Given the description of an element on the screen output the (x, y) to click on. 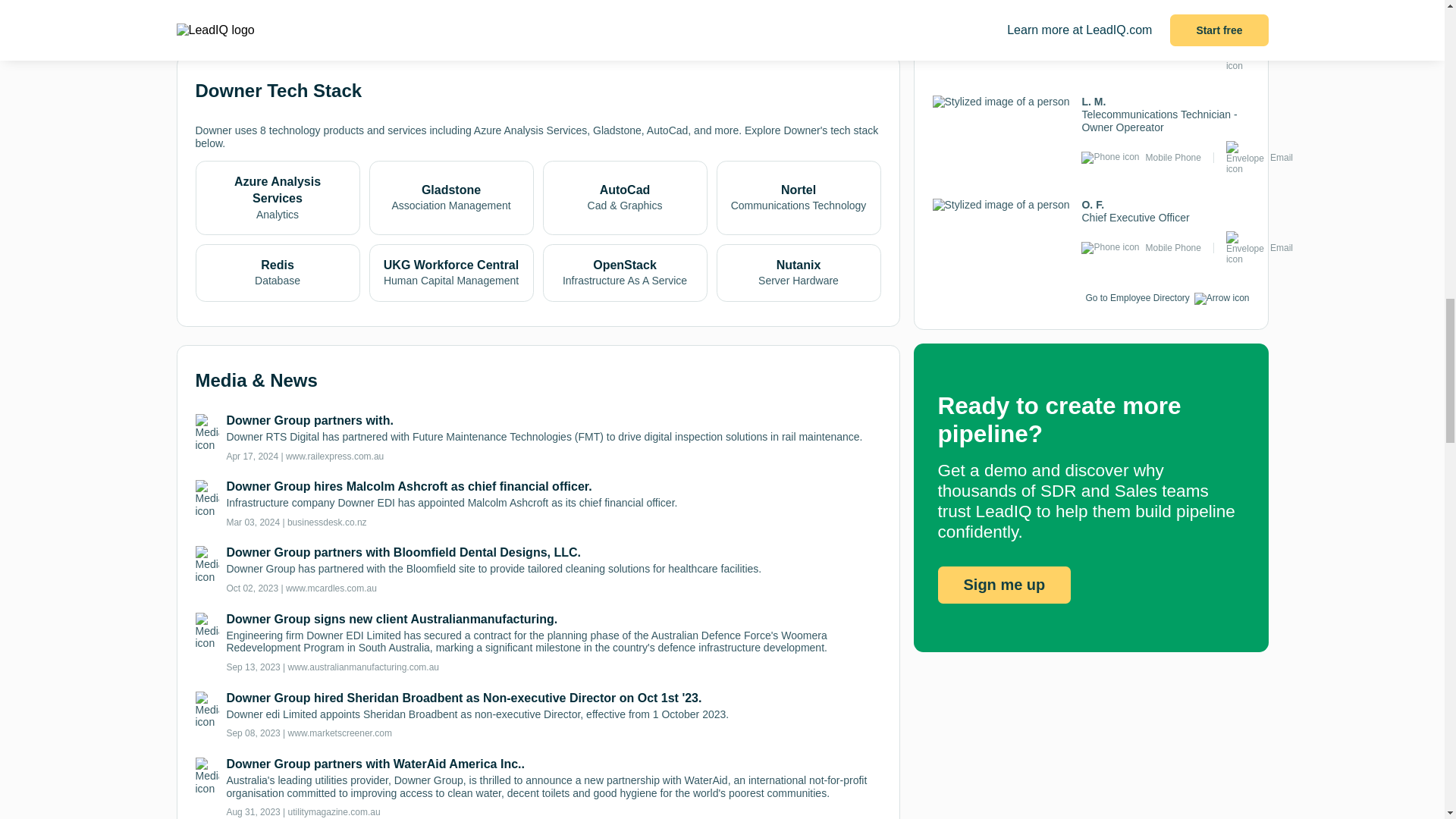
Explore similar companies (272, 1)
Explore similar companies (272, 6)
